Given the description of an element on the screen output the (x, y) to click on. 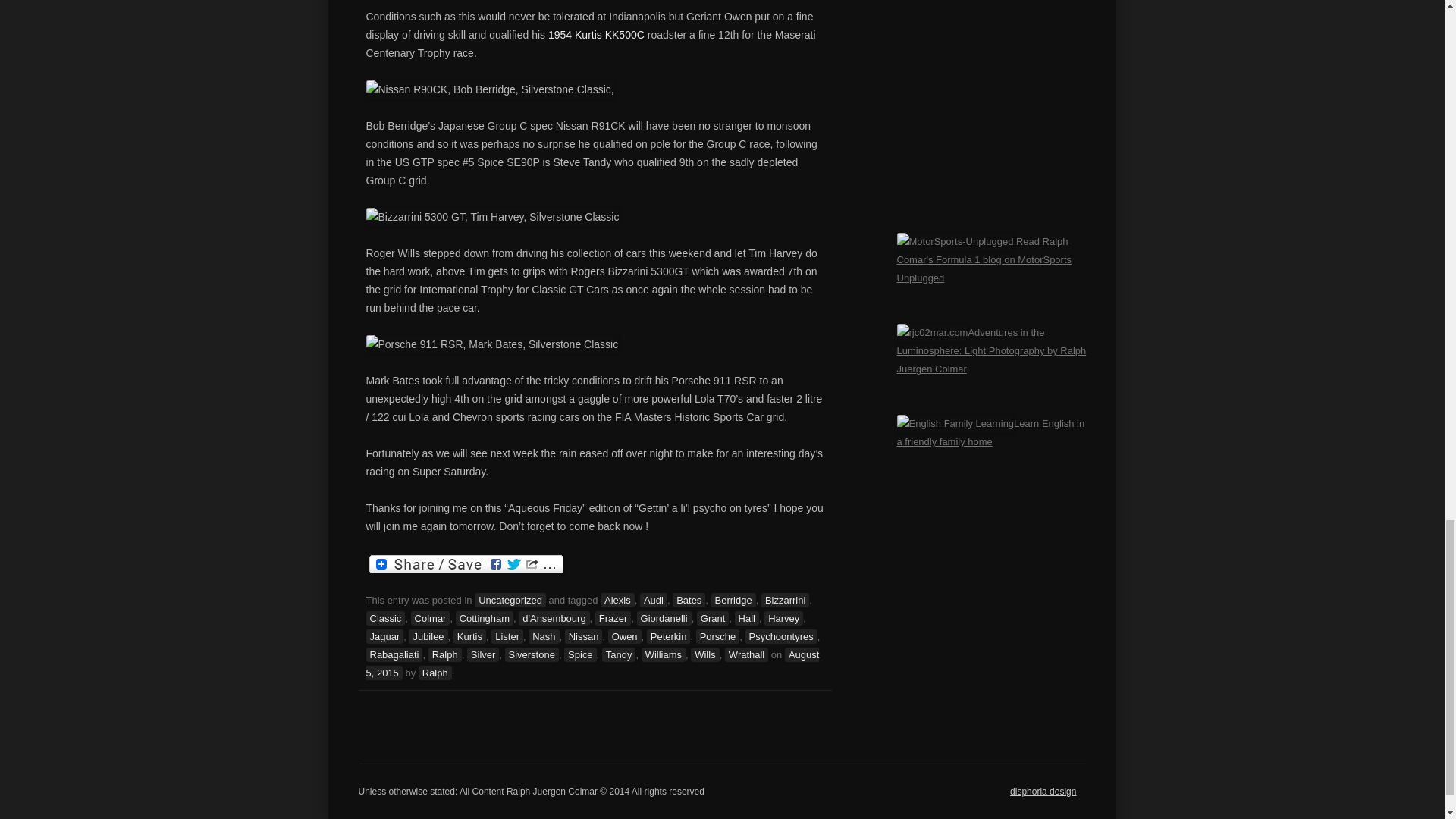
Uncategorized (510, 599)
Psychoontyres (780, 636)
12:01 am (591, 663)
Ralph (444, 654)
Grant (713, 617)
Nash (543, 636)
Rabagaliati (393, 654)
Hall (746, 617)
Audi (653, 599)
Jubilee (427, 636)
Giordanelli (664, 617)
Peterkin (668, 636)
Owen (625, 636)
Bizzarrini (785, 599)
Lister (507, 636)
